Given the description of an element on the screen output the (x, y) to click on. 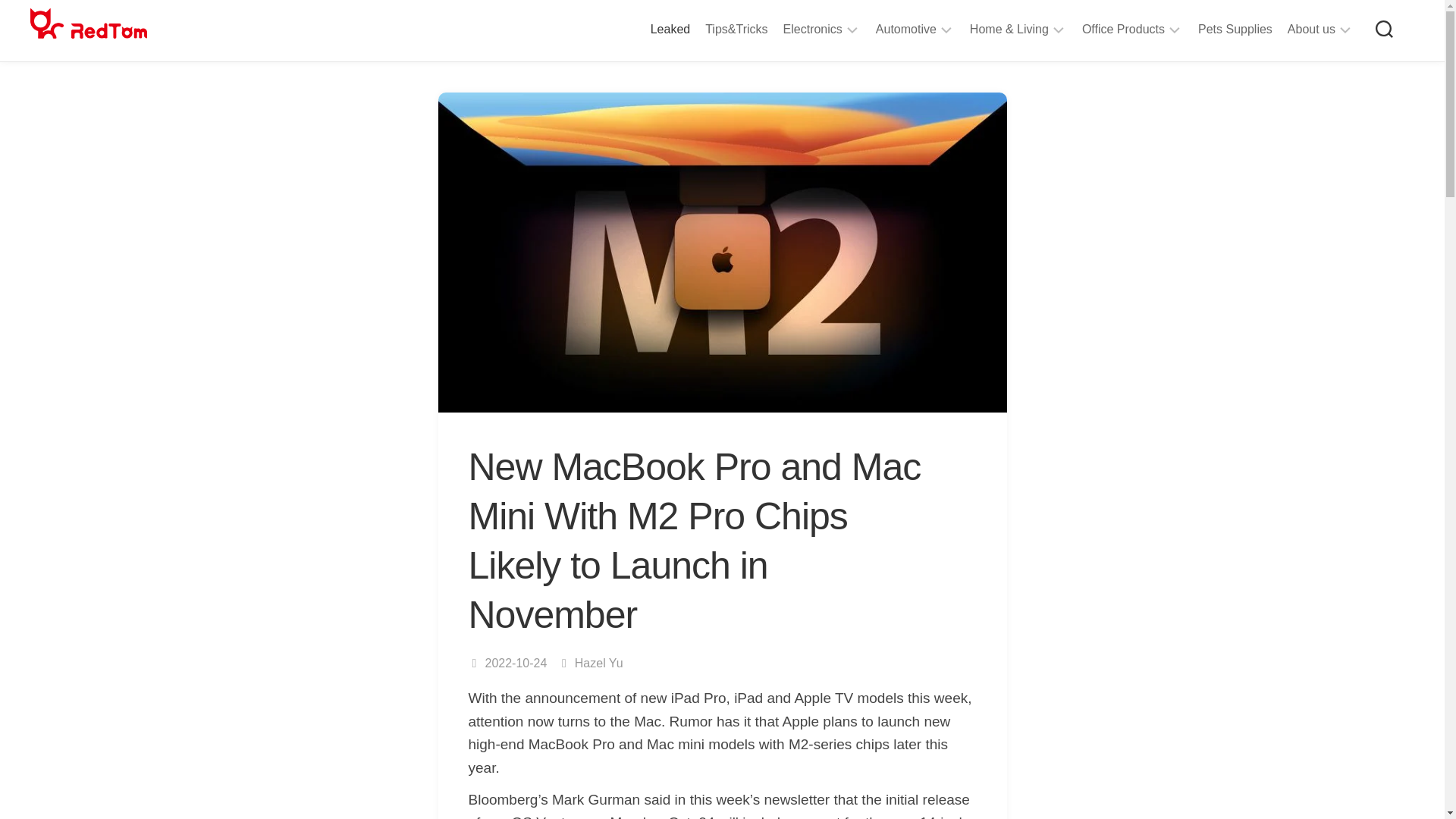
Hazel Yu (599, 662)
Pets Supplies (1235, 29)
Electronics (813, 29)
Automotive (906, 29)
About us (1311, 29)
Office Products (1122, 29)
Leaked (670, 29)
